Given the description of an element on the screen output the (x, y) to click on. 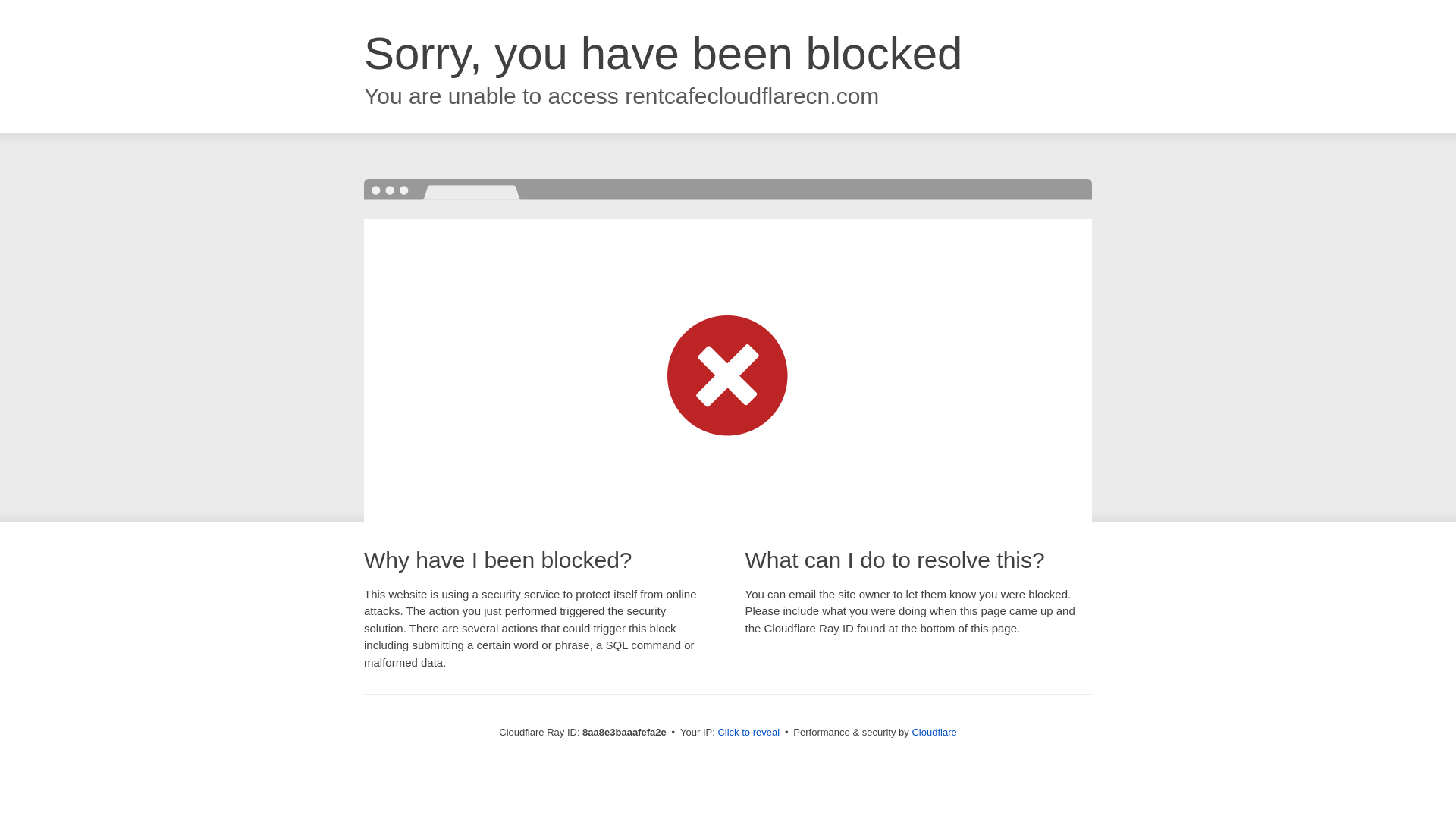
Cloudflare (933, 731)
Click to reveal (747, 732)
